Given the description of an element on the screen output the (x, y) to click on. 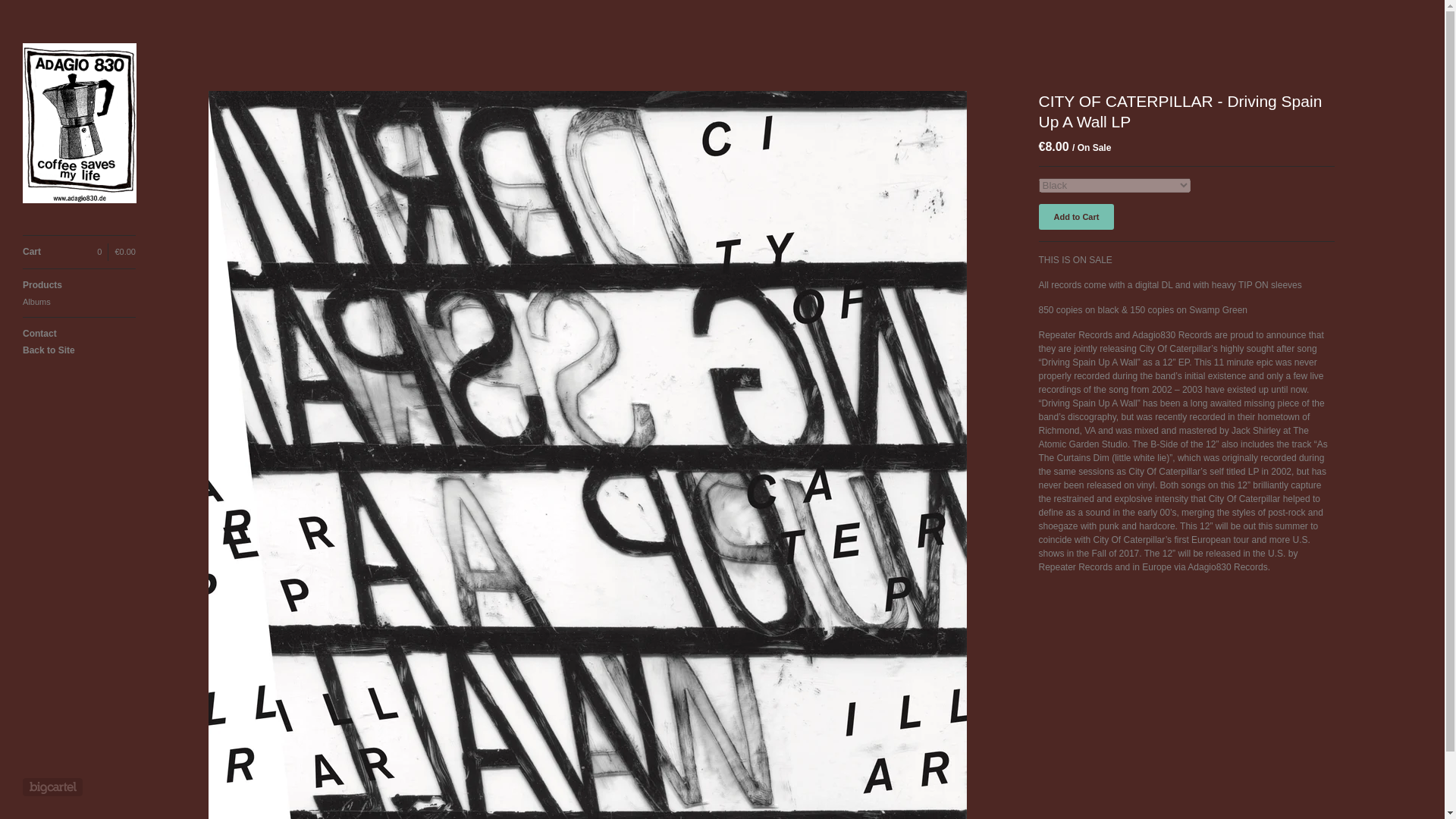
Products (79, 285)
Albums (79, 301)
Contact (79, 334)
Add to Cart (1077, 216)
Back to Site (79, 350)
Powered by Big Cartel (52, 787)
